Given the description of an element on the screen output the (x, y) to click on. 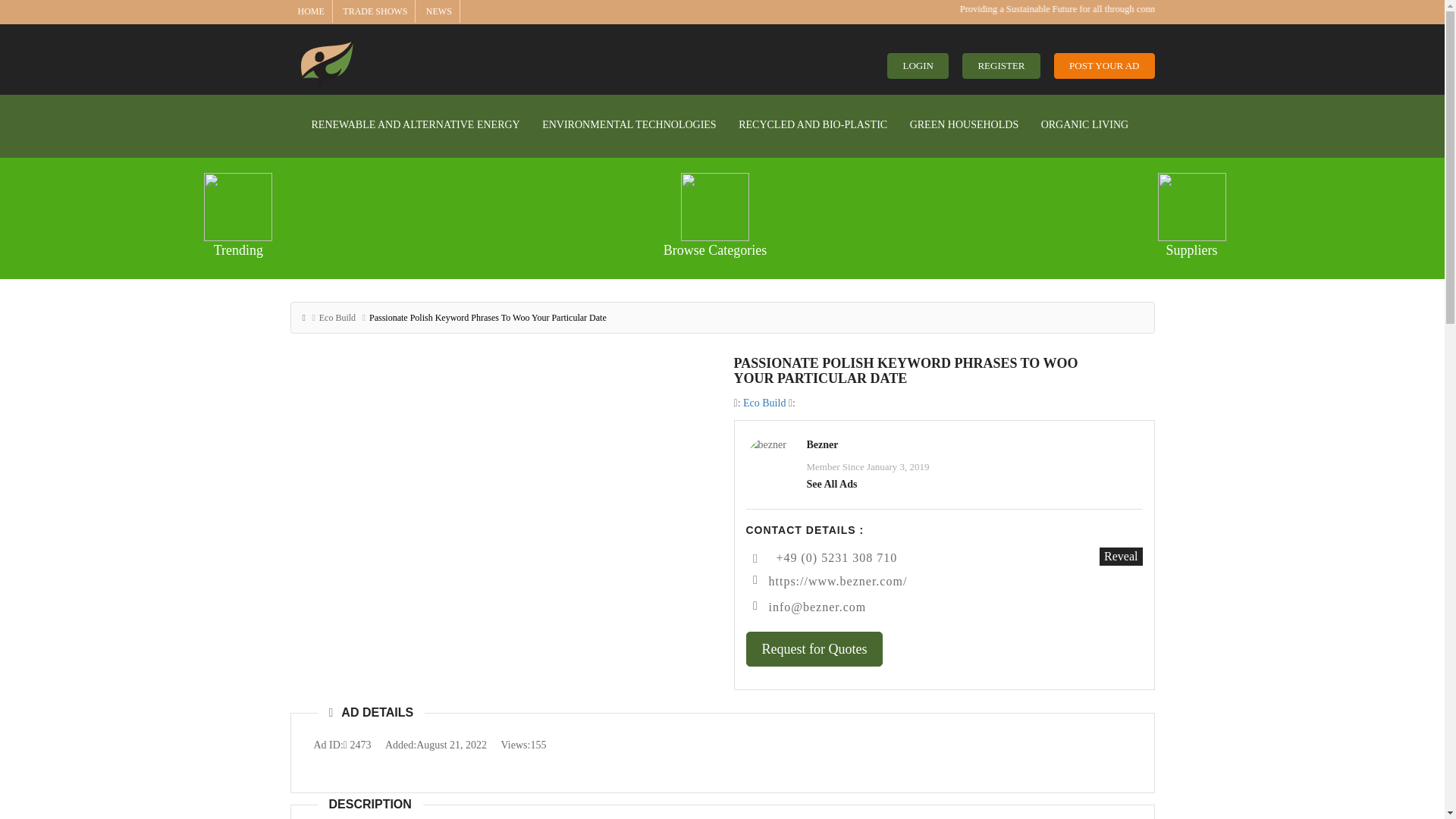
Organic Living (1084, 124)
NEWS (438, 10)
Green Households (964, 124)
Environmental Technologies (628, 124)
TRADE SHOWS (374, 10)
Renewable and Alternative Energy (415, 124)
POST YOUR AD (1104, 66)
HOME (310, 10)
LOGIN (916, 66)
Recycled and BIO-Plastic (812, 124)
View all posts in Eco Build (764, 402)
REGISTER (1000, 66)
